Given the description of an element on the screen output the (x, y) to click on. 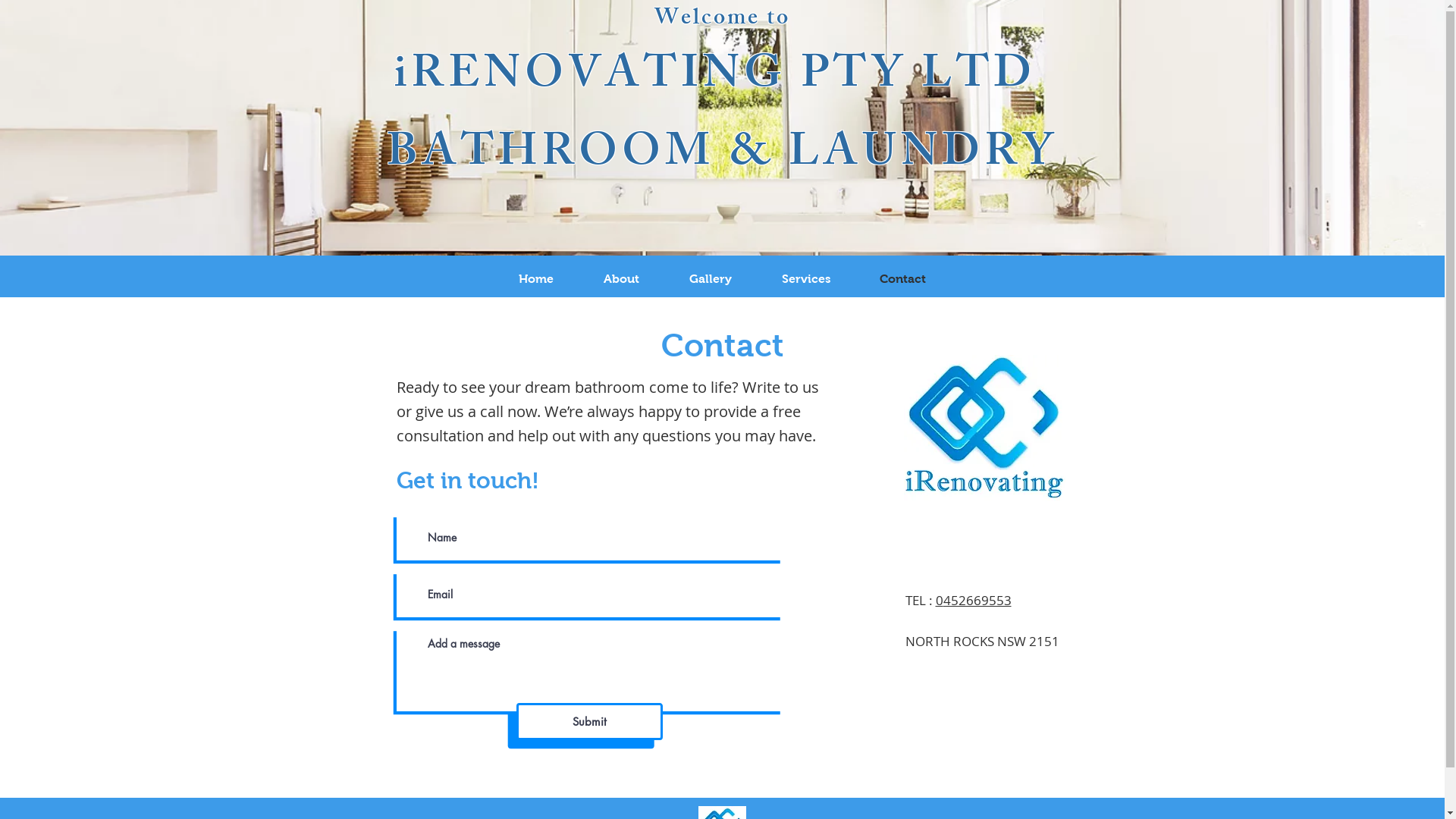
Submit Element type: text (588, 721)
iRENOVATING PTY LTD  Element type: text (722, 78)
Contact Element type: text (902, 278)
Gallery Element type: text (710, 278)
Home Element type: text (534, 278)
Services Element type: text (805, 278)
About Element type: text (620, 278)
452669553 Element type: text (977, 600)
BATHROOM & LAUNDRY Element type: text (721, 156)
